Given the description of an element on the screen output the (x, y) to click on. 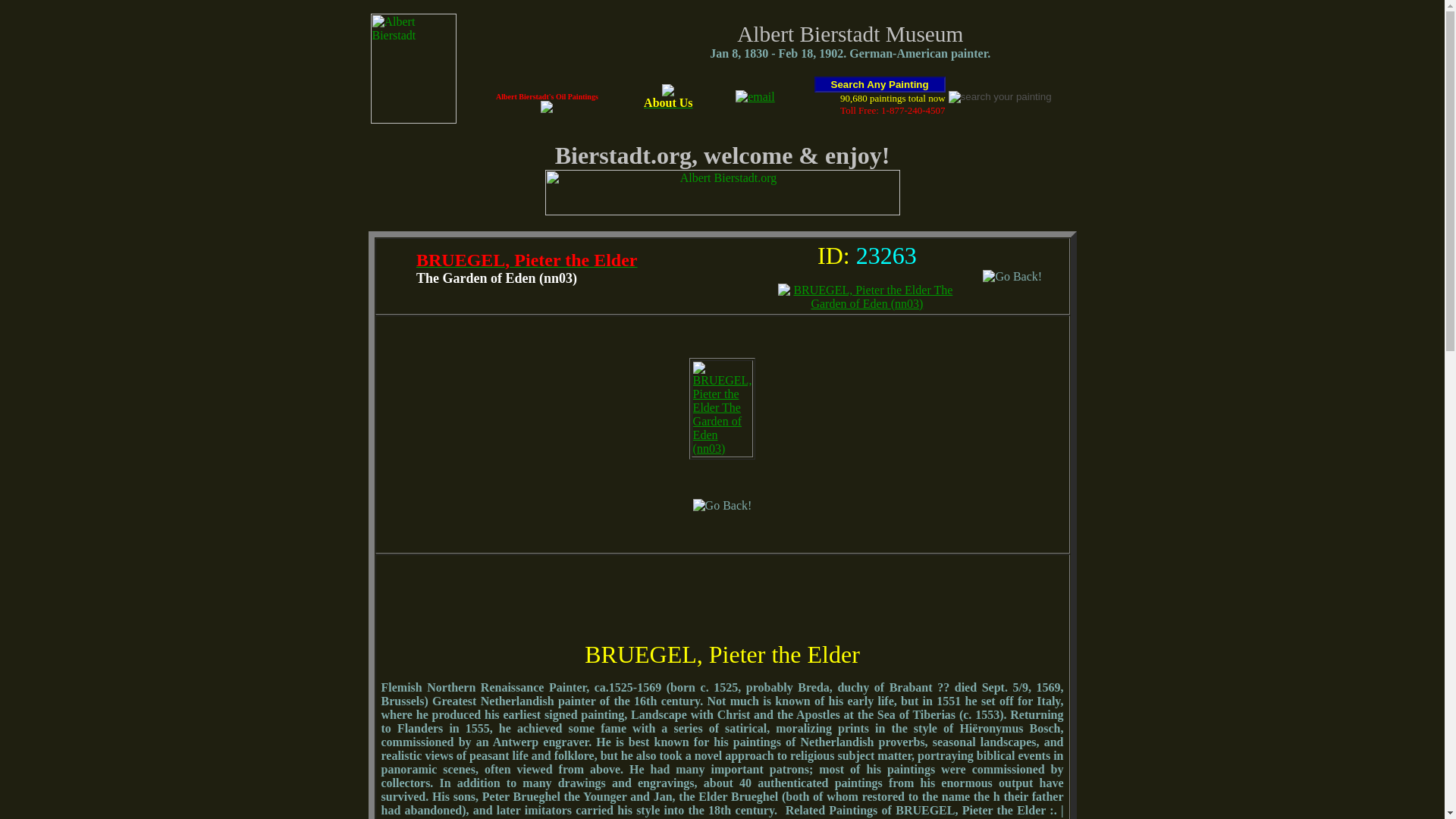
BRUEGEL, Pieter the Elder (526, 261)
Peasant dance (713, 818)
The Little Tower of Babel (957, 818)
Search Any Painting (878, 84)
About Us (668, 96)
Landscape of the Alps (610, 818)
Netherlandish Proverbs (820, 818)
